Given the description of an element on the screen output the (x, y) to click on. 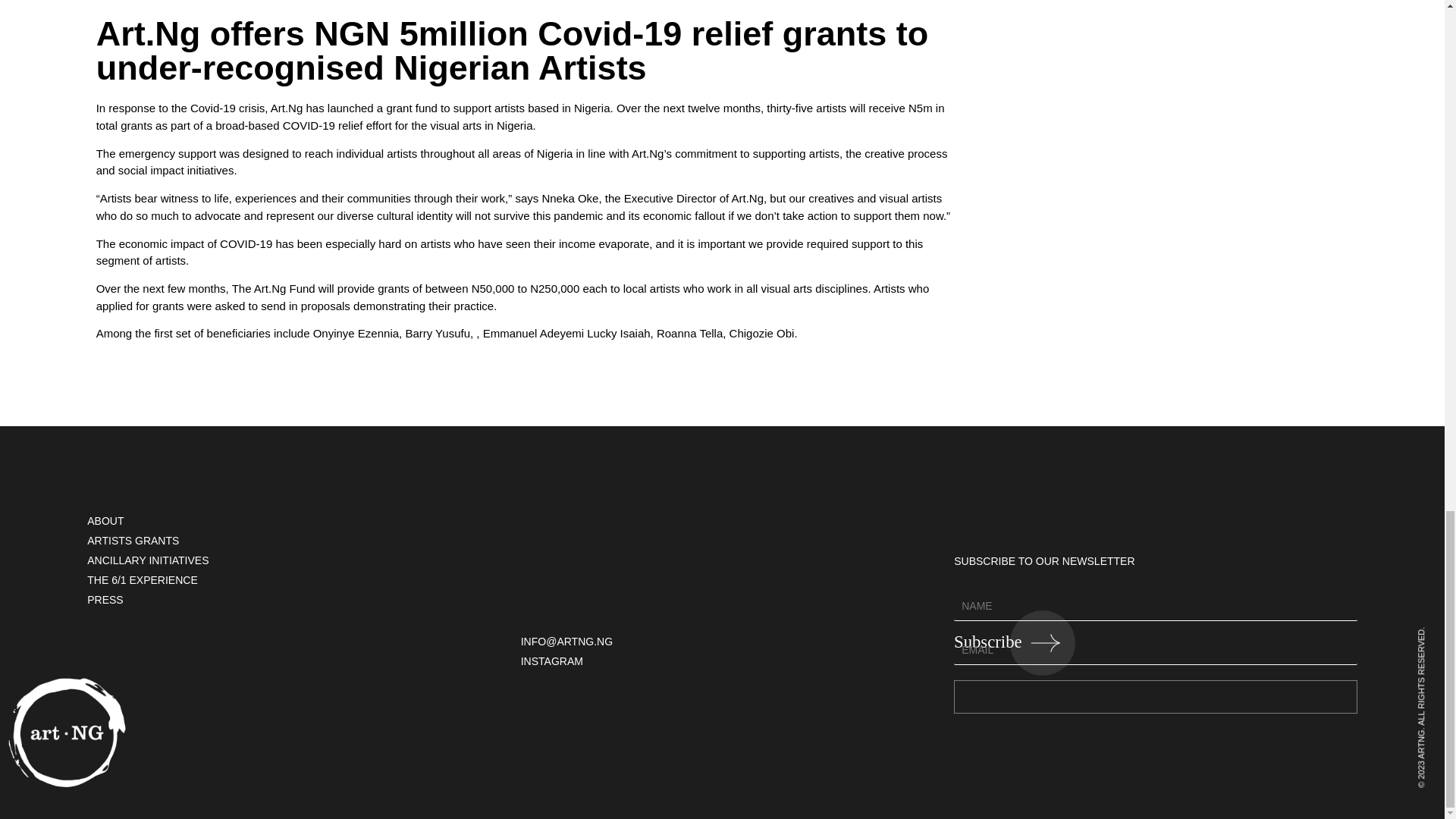
PRESS (288, 600)
ABOUT (288, 521)
ARTISTS GRANTS (288, 540)
SUBSCRIBE (1154, 697)
Subscribe (1014, 642)
INSTAGRAM (722, 661)
ANCILLARY INITIATIVES (288, 560)
